Given the description of an element on the screen output the (x, y) to click on. 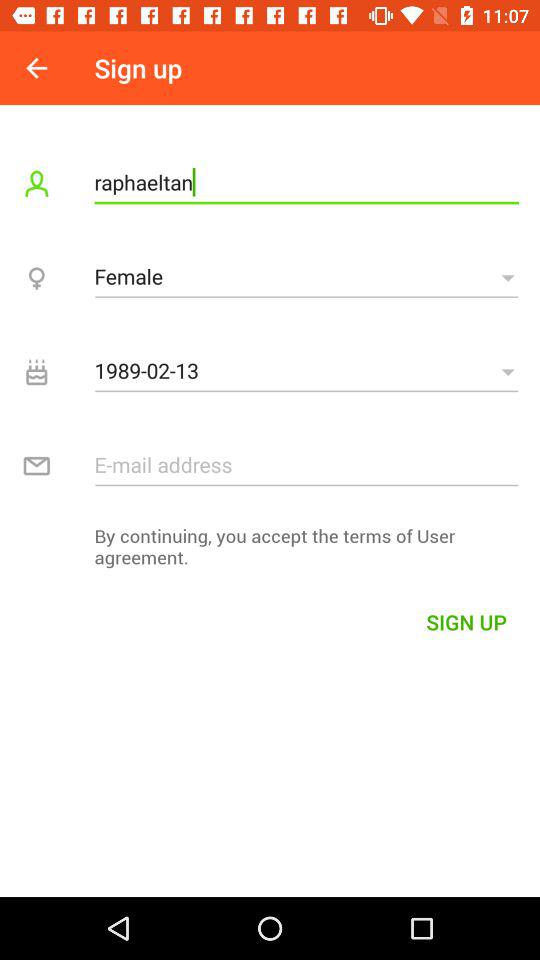
turn off the icon above the sign up (270, 551)
